Given the description of an element on the screen output the (x, y) to click on. 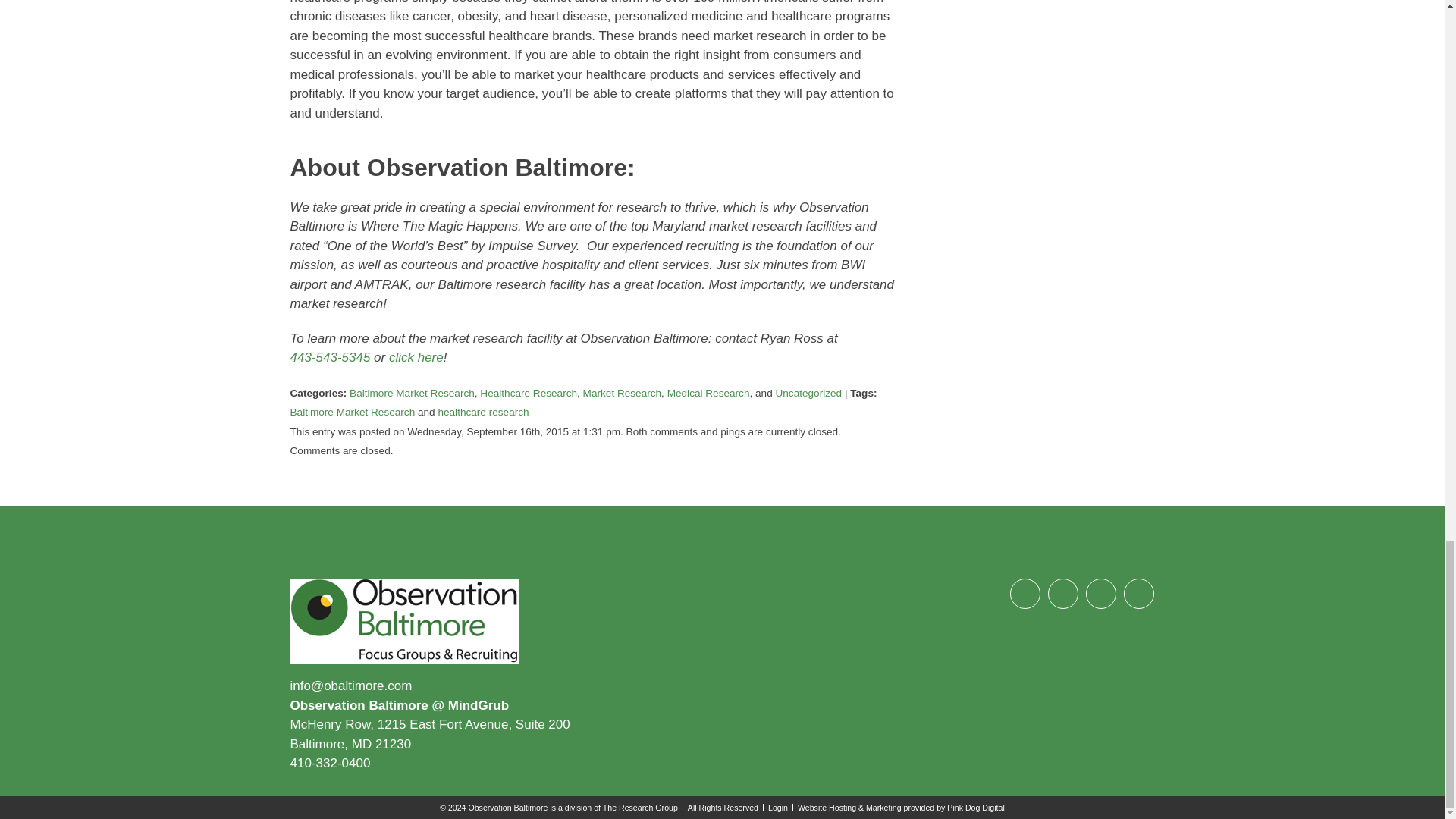
443-543-5345 (329, 357)
Market Research (622, 392)
Uncategorized (807, 392)
Medical Research (707, 392)
click here (416, 357)
Healthcare Research (528, 392)
Baltimore Market Research (411, 392)
Baltimore Market Research (351, 411)
healthcare research (483, 411)
